Given the description of an element on the screen output the (x, y) to click on. 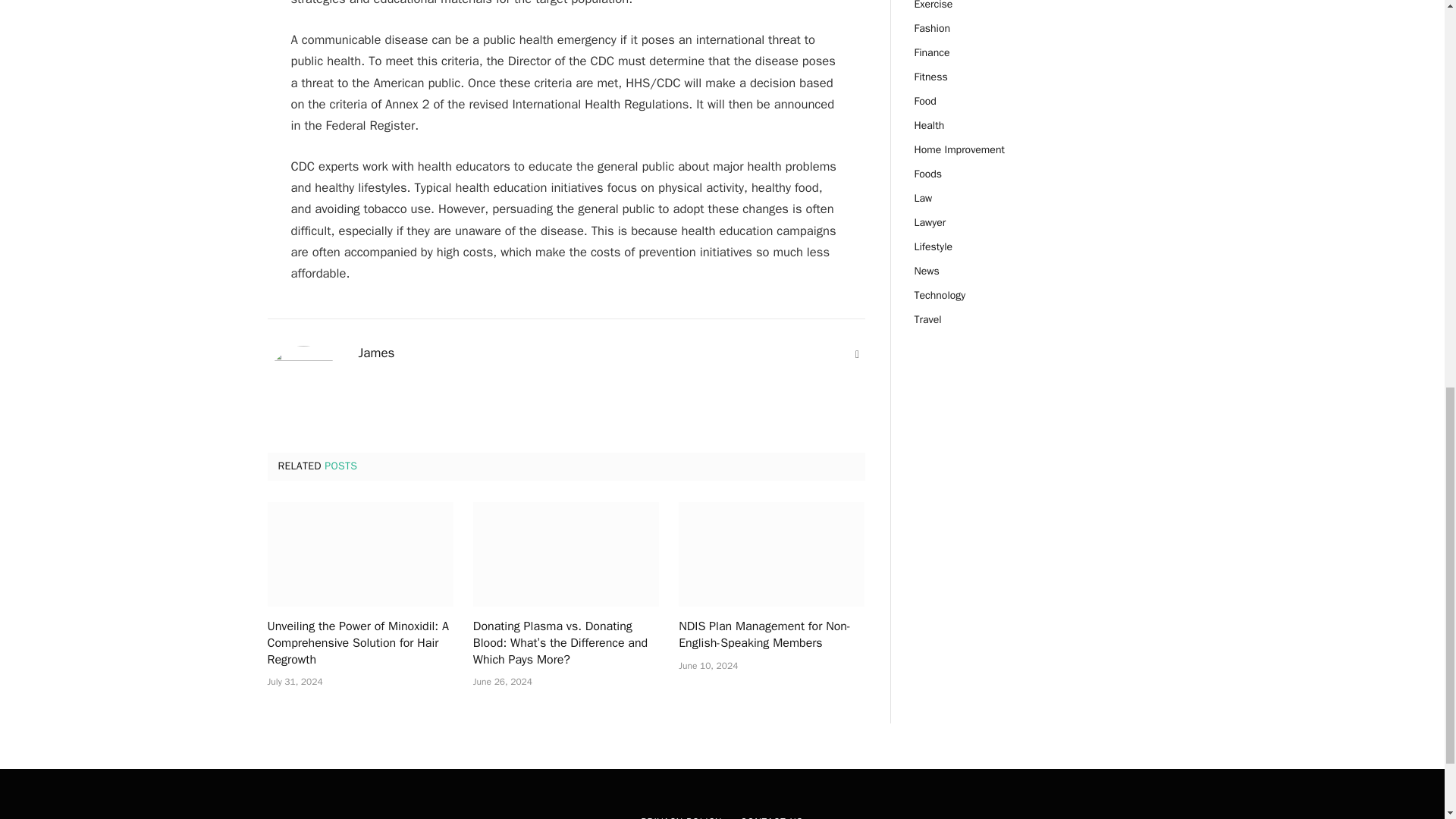
Posts by James (376, 353)
Website (856, 354)
NDIS Plan Management for Non-English-Speaking Members (771, 554)
NDIS Plan Management for Non-English-Speaking Members (771, 635)
Website (856, 354)
James (376, 353)
